Given the description of an element on the screen output the (x, y) to click on. 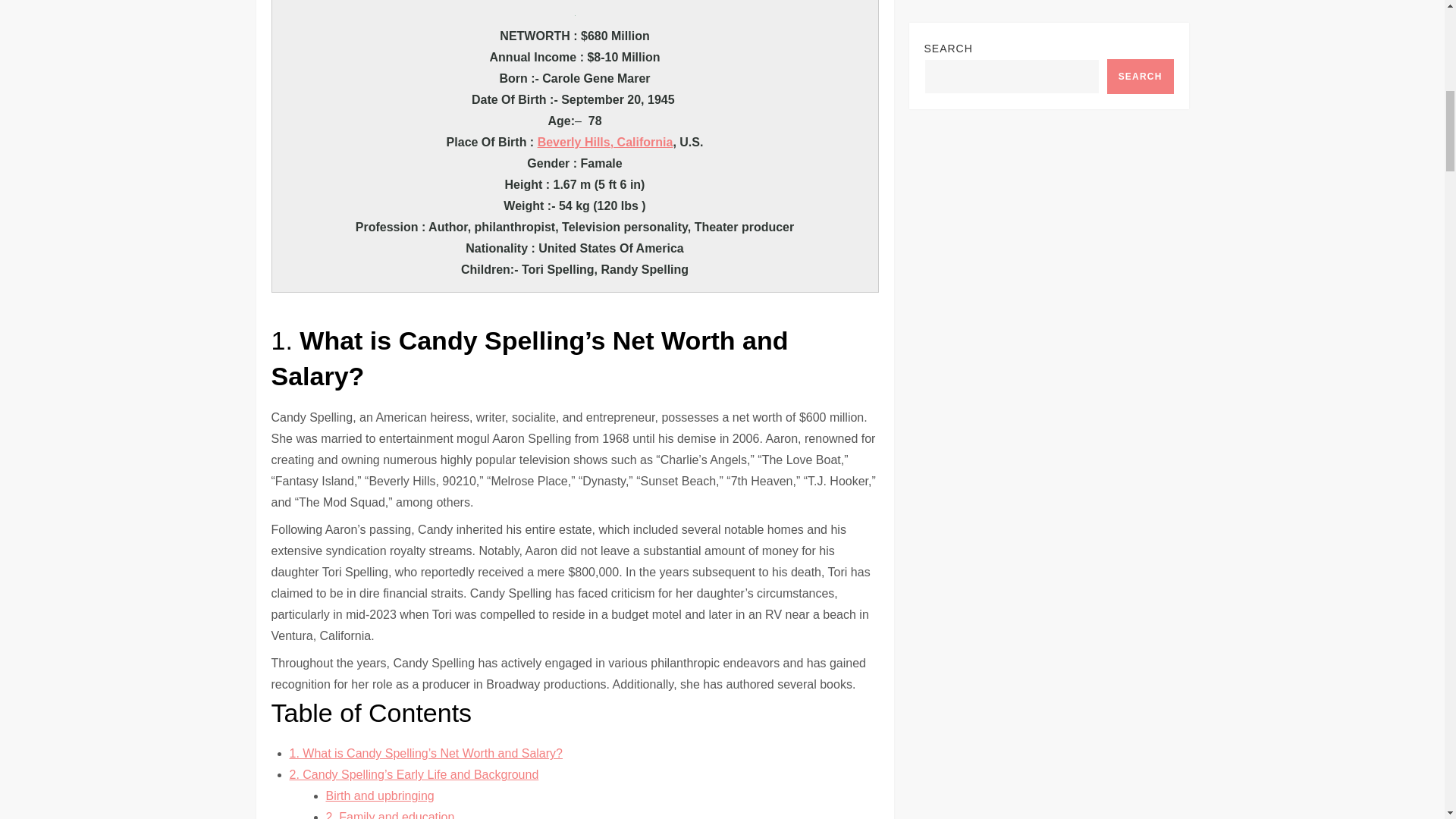
Beverly Hills, California (604, 141)
Birth and upbringing (379, 795)
2. Family and education (390, 814)
